Given the description of an element on the screen output the (x, y) to click on. 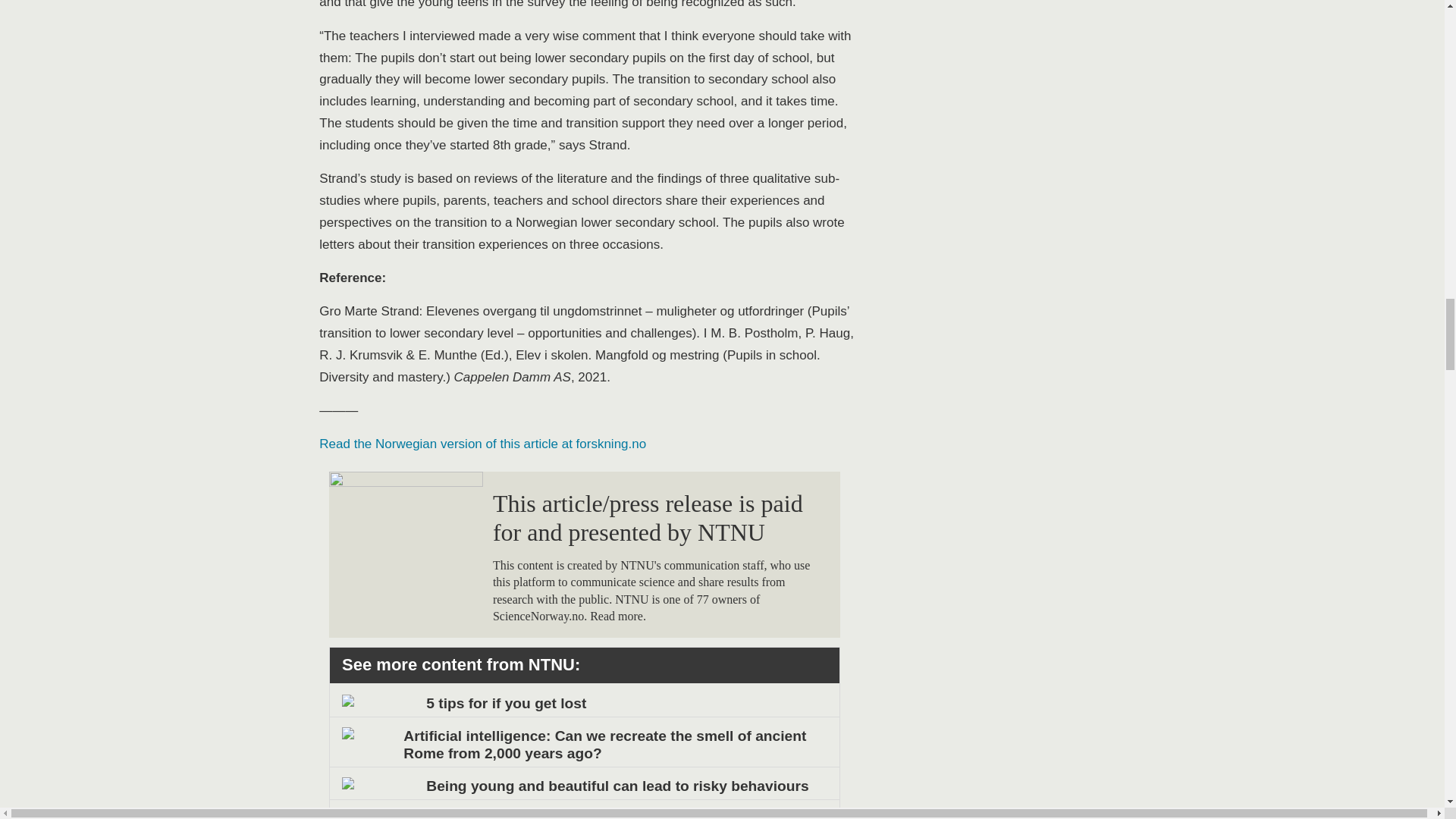
Being young and beautiful can lead to risky behaviours (584, 785)
How E. coli defends itself against antibiotics (584, 814)
5 tips for if you get lost (584, 702)
Read the Norwegian version of this article at forskning.no (482, 443)
